Given the description of an element on the screen output the (x, y) to click on. 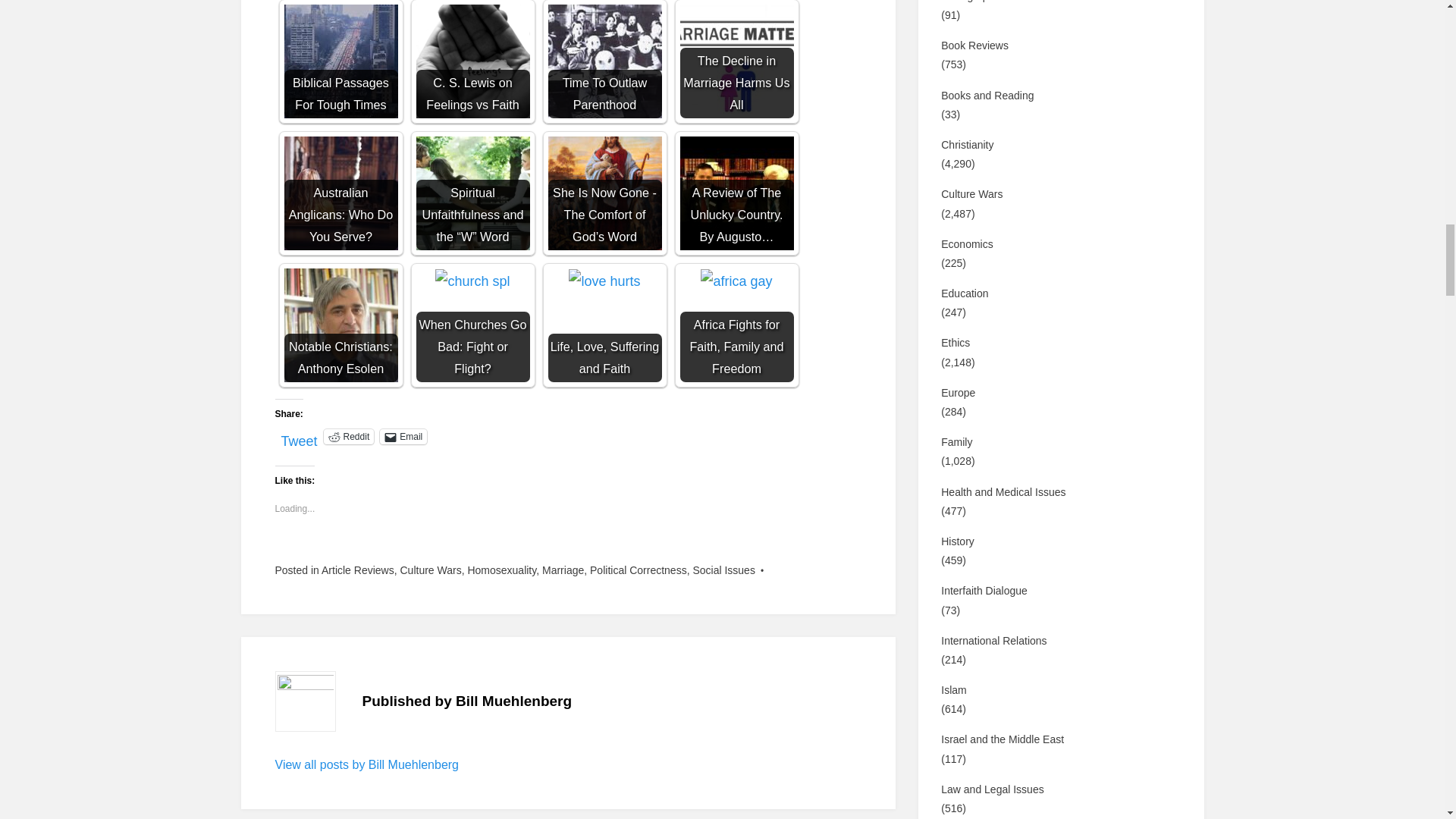
Australian Anglicans: Who Do You Serve? (340, 193)
C. S. Lewis on Feelings vs Faith (471, 60)
Biblical Passages For Tough Times (340, 60)
Biblical Passages For Tough Times (340, 60)
C. S. Lewis on Feelings vs Faith (471, 60)
When Churches Go Bad: Fight or Flight? (471, 325)
Africa Fights for Faith, Family and Freedom (736, 325)
Australian Anglicans: Who Do You Serve? (340, 193)
Life, Love, Suffering and Faith (604, 325)
The Decline in Marriage Harms Us All (736, 60)
